Given the description of an element on the screen output the (x, y) to click on. 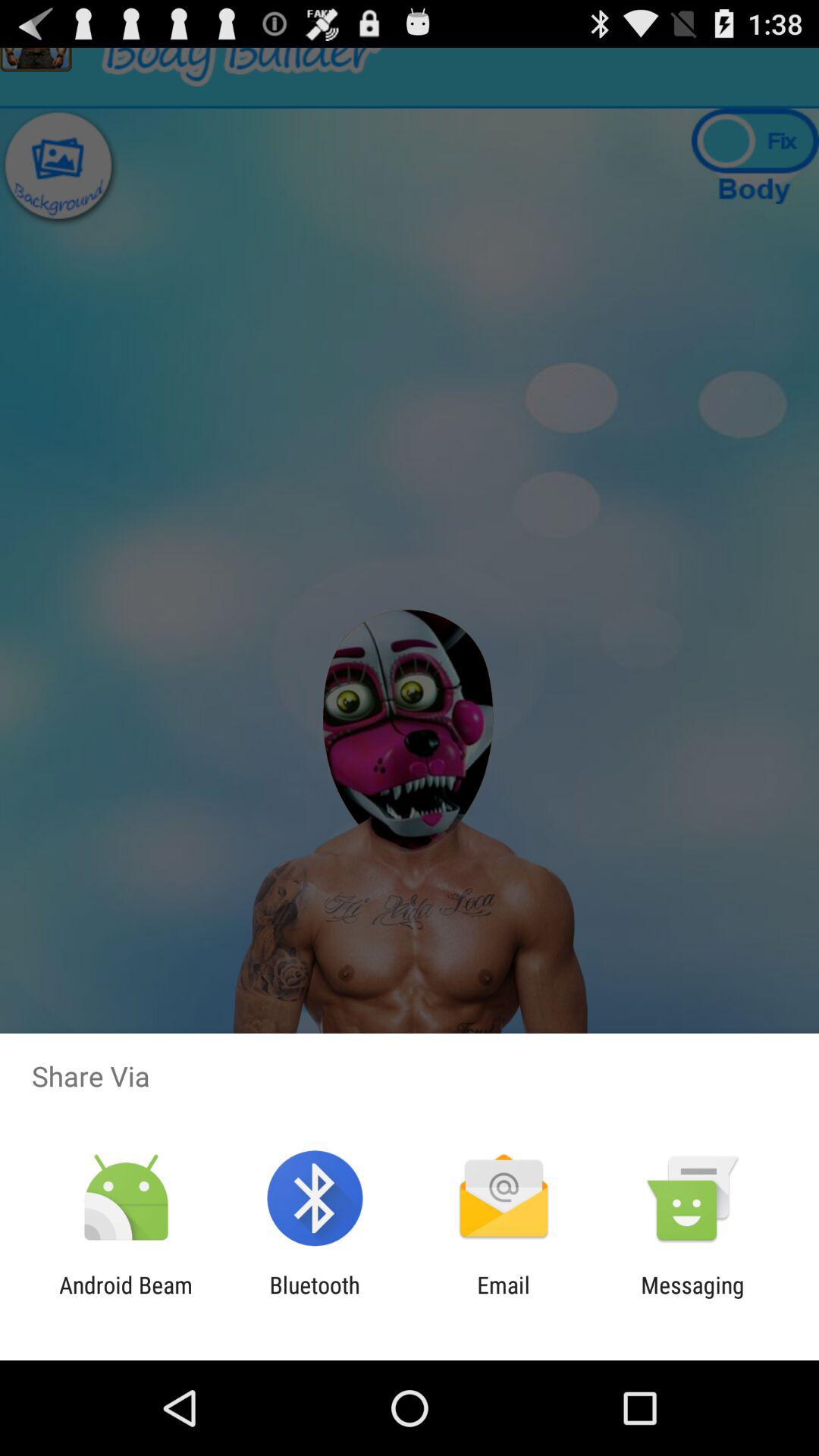
open app to the right of the email app (692, 1298)
